Given the description of an element on the screen output the (x, y) to click on. 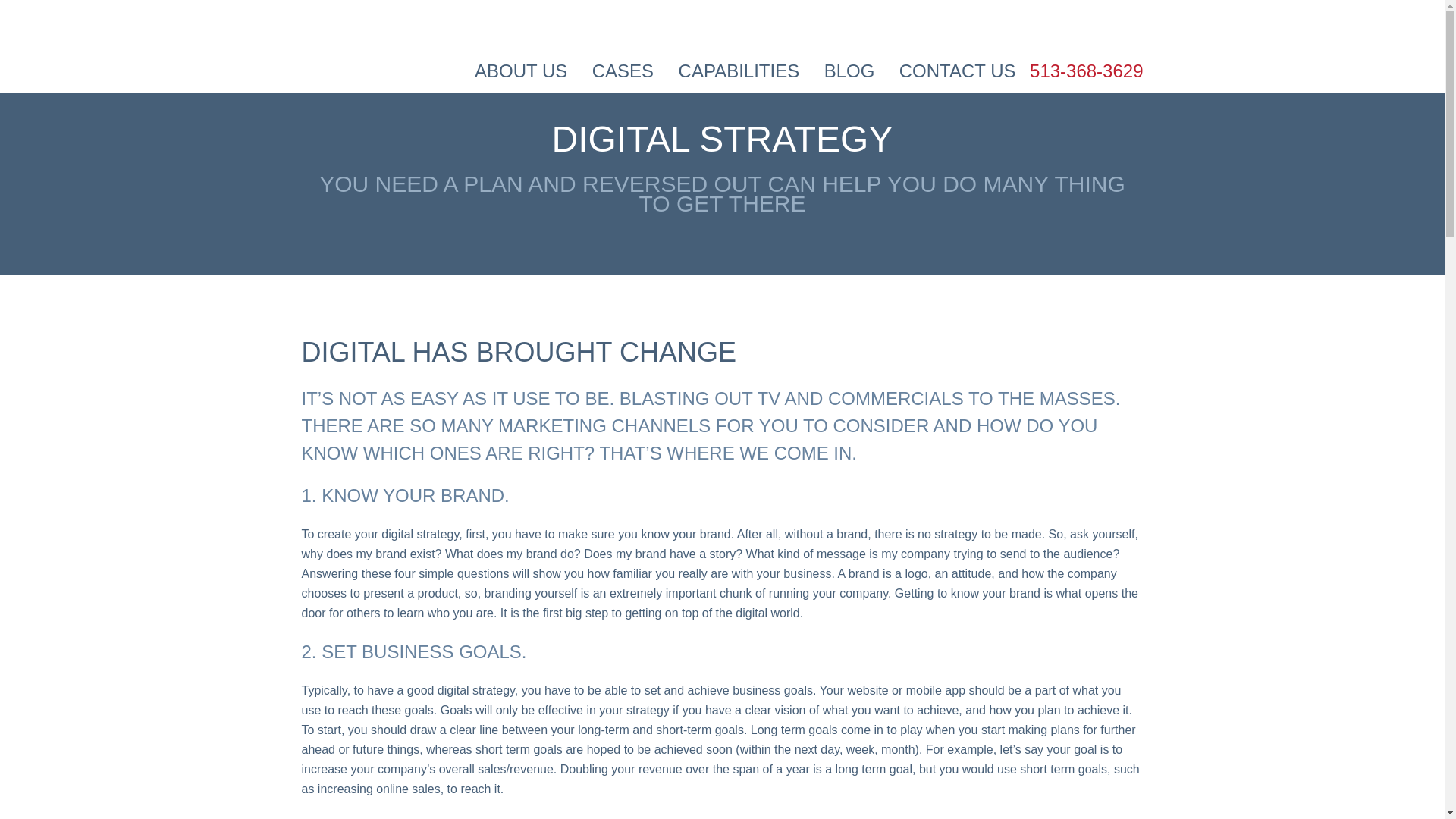
513-368-3629 (1085, 71)
CONTACT US (957, 71)
REVERSED OUT CREATIVE (396, 29)
logo (915, 573)
your brand (701, 533)
mobile app (935, 689)
CAPABILITIES (738, 71)
CASES (622, 71)
ABOUT US (520, 71)
BLOG (849, 71)
